Given the description of an element on the screen output the (x, y) to click on. 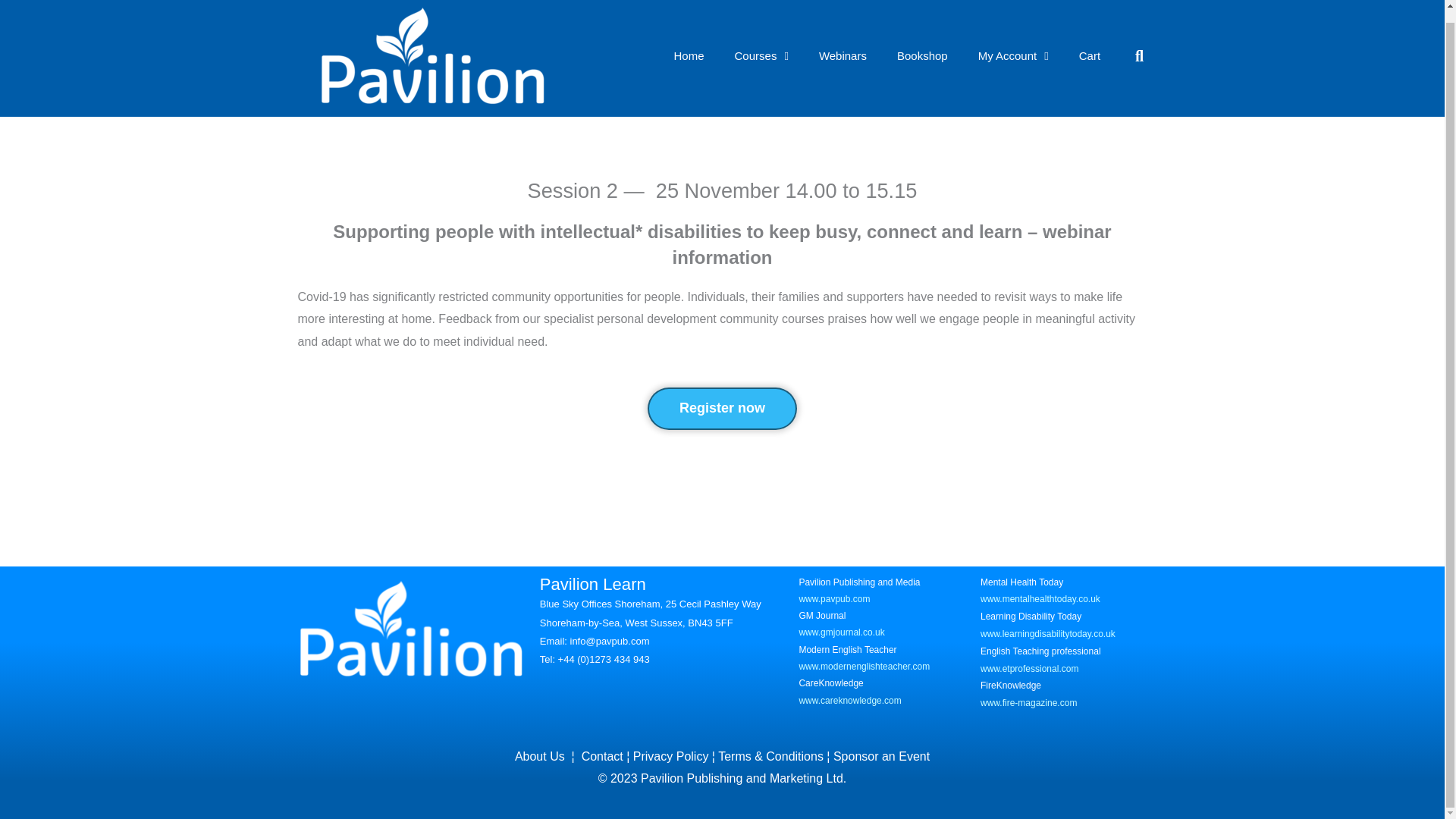
Bookshop (922, 56)
www.pavpub.com (833, 598)
Courses (761, 56)
www.careknowledge.com (849, 700)
www.mentalhealthtoday.co.uk (1039, 598)
Register now (721, 408)
My Account (1013, 56)
www.modernenglishteacher.com (863, 665)
Webinars (842, 56)
www.gmjournal.co.uk (840, 632)
